Given the description of an element on the screen output the (x, y) to click on. 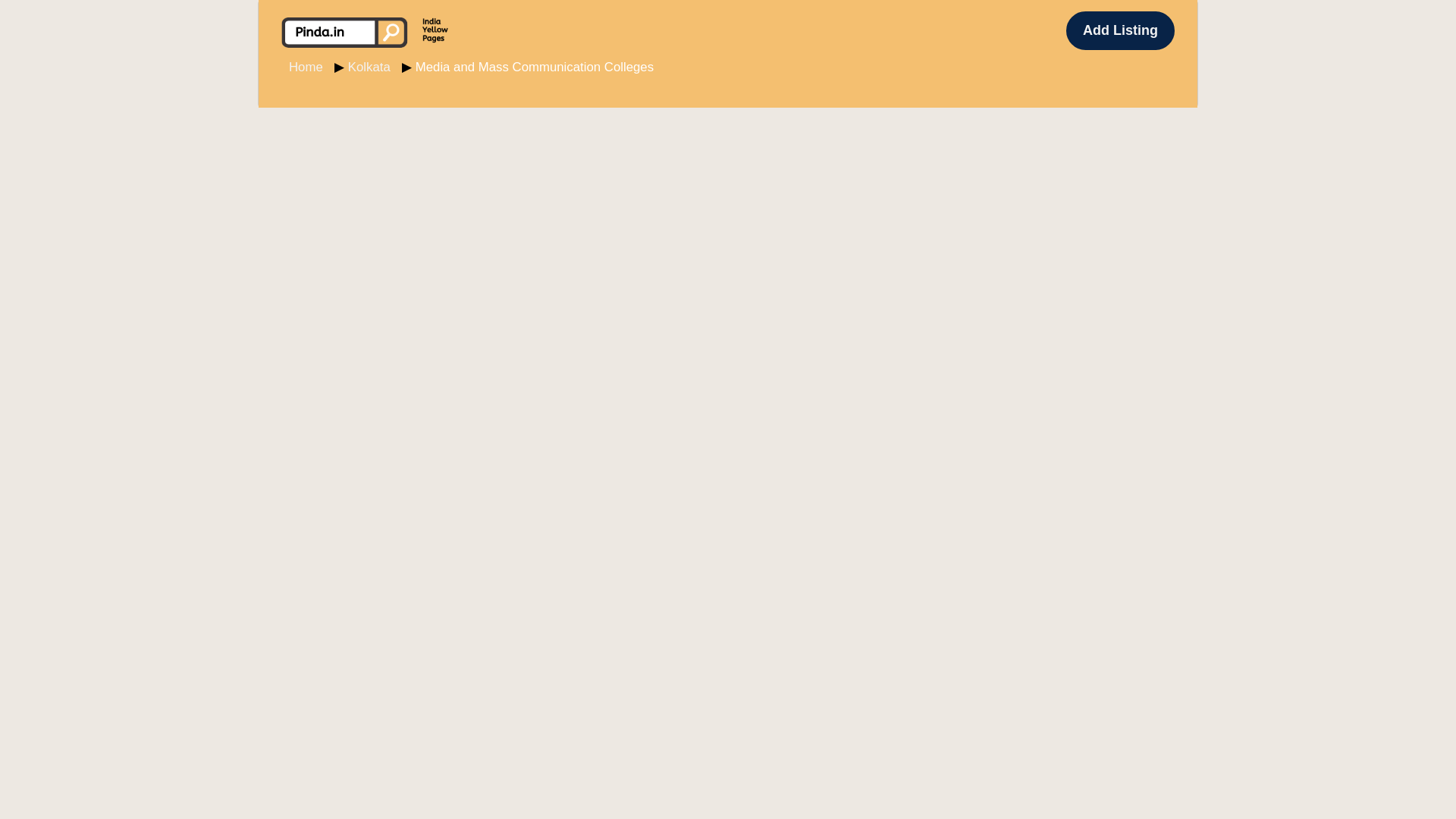
Add Listing (1119, 30)
Kolkata (368, 66)
Home (305, 66)
